Given the description of an element on the screen output the (x, y) to click on. 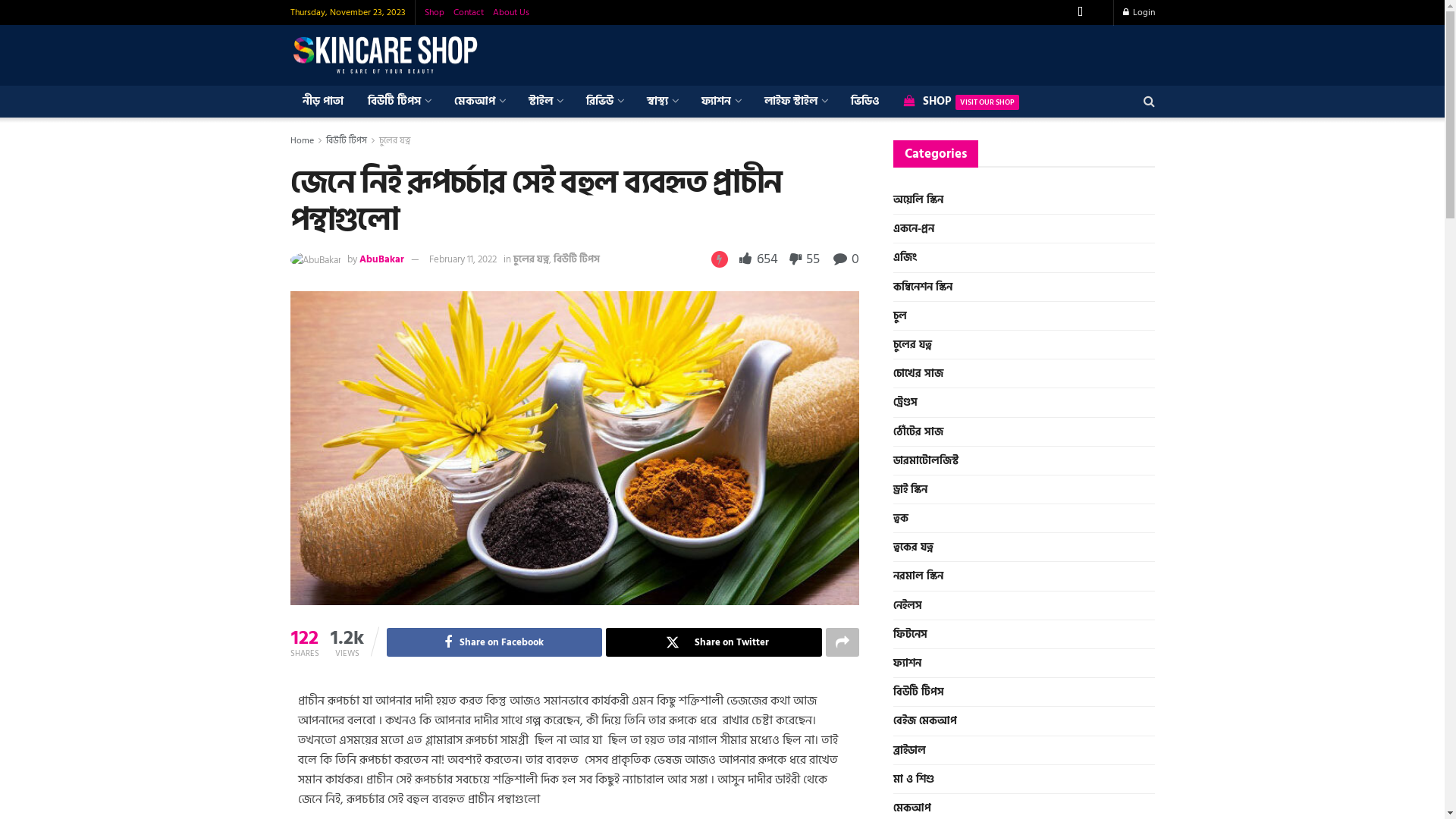
55 Element type: text (800, 258)
February 11, 2022 Element type: text (462, 259)
Login Element type: text (1138, 12)
Share on Facebook Element type: text (494, 641)
SHOPVISIT OUR SHOP Element type: text (961, 101)
AbuBakar Element type: text (381, 259)
654 Element type: text (759, 258)
Contact Element type: text (468, 12)
Home Element type: text (301, 140)
Shop Element type: text (434, 12)
0 Element type: text (845, 258)
Share on Twitter Element type: text (713, 641)
About Us Element type: text (510, 12)
